Given the description of an element on the screen output the (x, y) to click on. 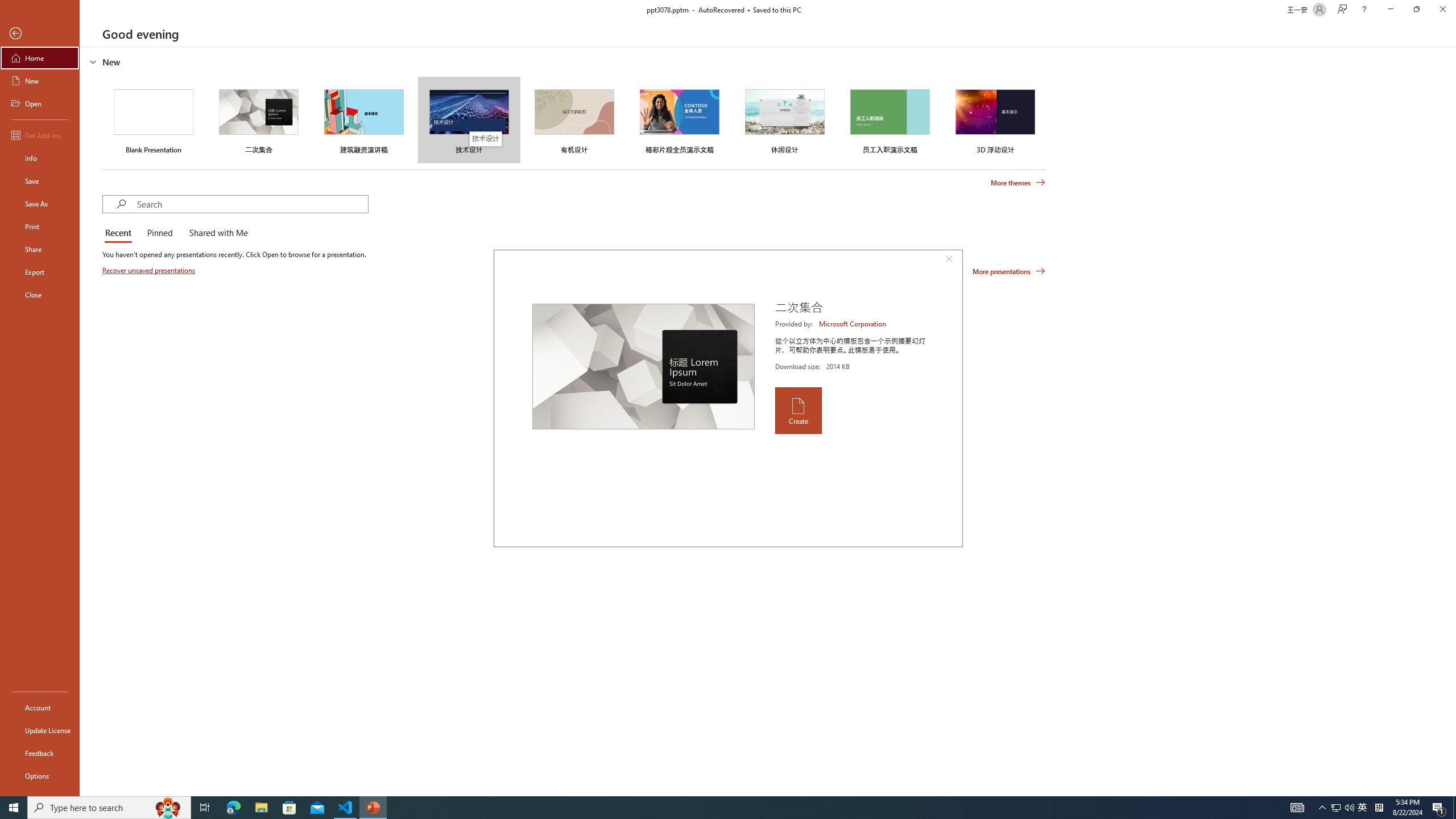
Hide or show region (92, 61)
More presentations (1008, 270)
Update License (40, 730)
Recent (119, 233)
Create (797, 410)
Pinned (159, 233)
Options (40, 775)
Microsoft Corporation (853, 323)
More themes (1018, 182)
Get Add-ins (40, 134)
